Given the description of an element on the screen output the (x, y) to click on. 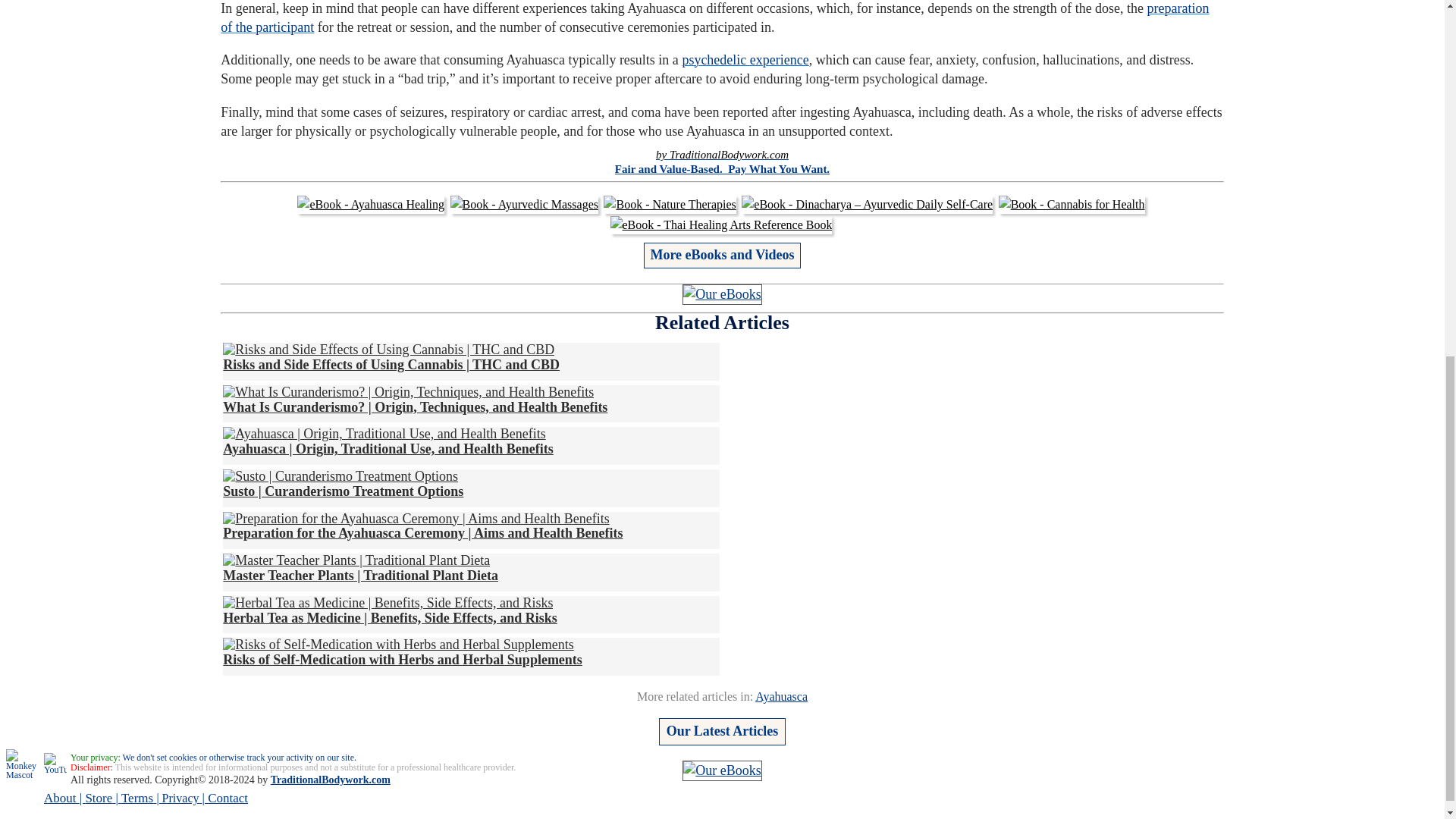
eBook - Ayurvedic Massages (523, 204)
eBook - Thai Healing Arts Reference Book (721, 225)
Risks of Self-Medication with Herbs and Herbal Supplements (402, 652)
Ayahuasca (781, 696)
Book - Ayahuasca Healing (370, 204)
More eBooks and Videos (721, 254)
Book - Nature Therapies (669, 204)
preparation of the participant (714, 17)
Our Latest Articles (722, 730)
psychedelic experience (744, 59)
Our eBooks (721, 294)
eBook - Cannabis for Health (1071, 204)
